Given the description of an element on the screen output the (x, y) to click on. 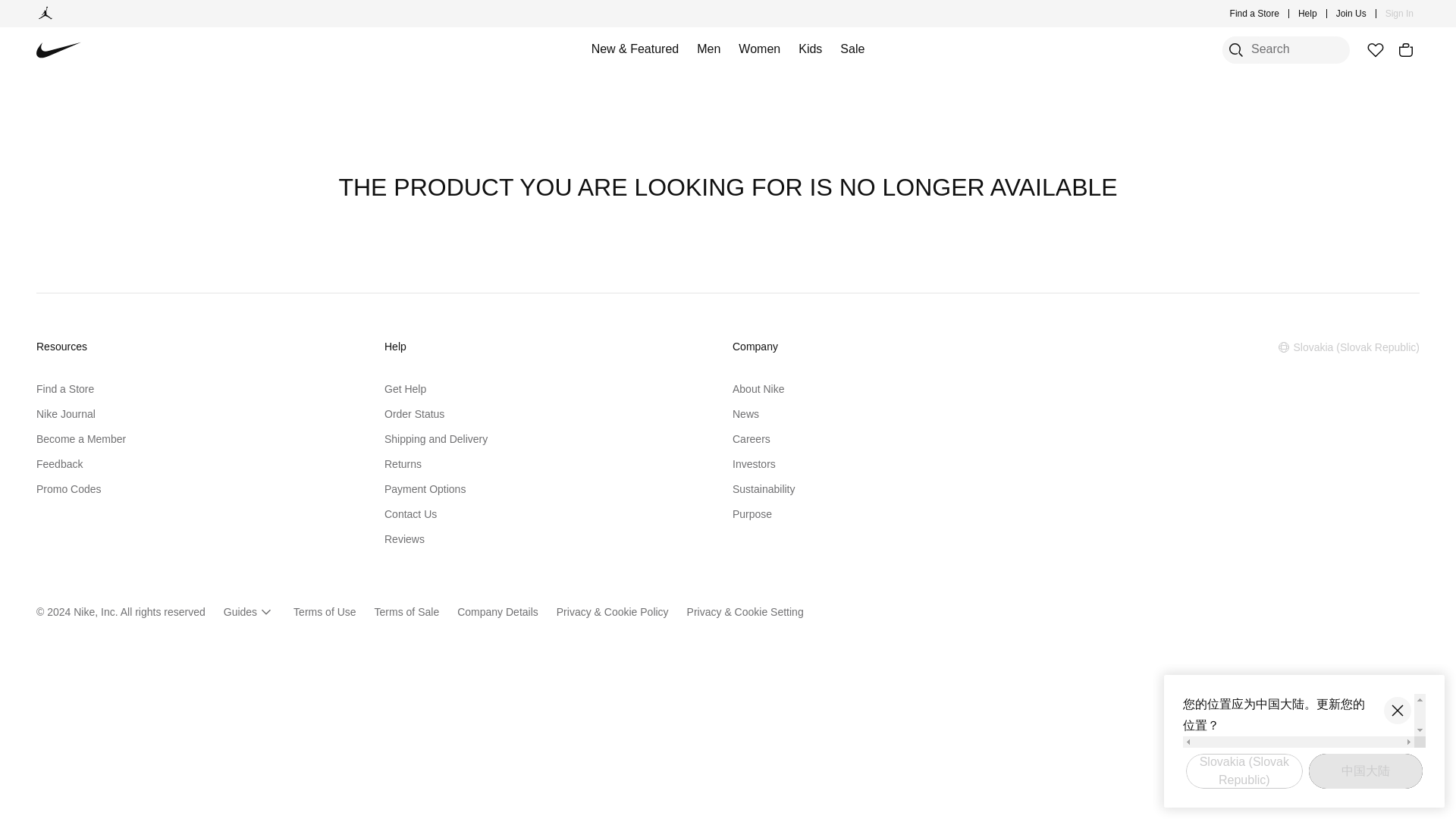
Find a Store (1254, 13)
Join Us (1351, 13)
Help (1307, 13)
Sign In (1399, 13)
Bag Items: 0 (1405, 49)
Favourites (1375, 49)
